Given the description of an element on the screen output the (x, y) to click on. 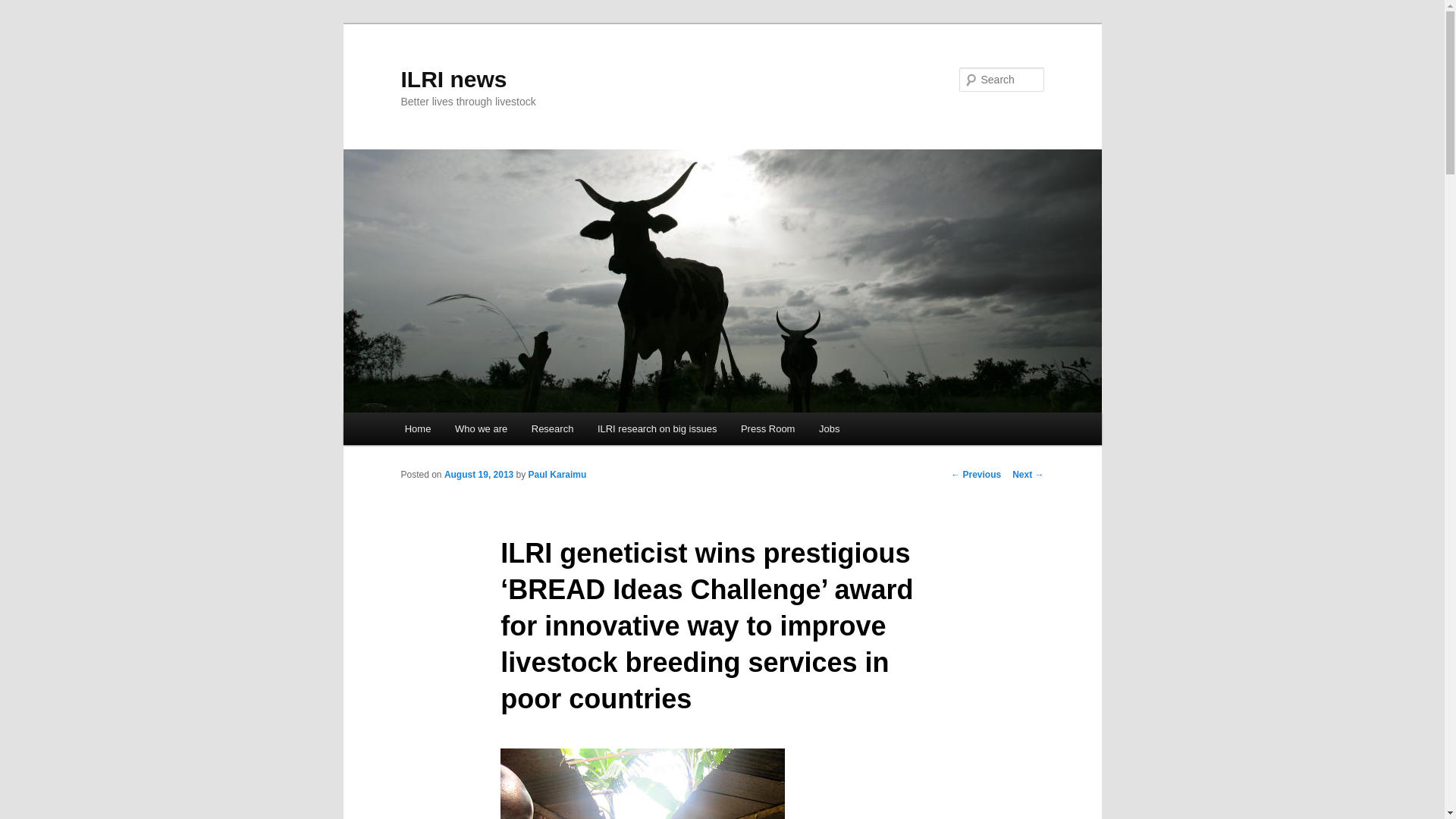
Who we are (480, 428)
Research (552, 428)
Who we are (480, 428)
Paul Karaimu (557, 474)
View all posts by Paul Karaimu (557, 474)
August 19, 2013 (478, 474)
Press Room (767, 428)
Home (417, 428)
2:37 pm (478, 474)
ILRI news (453, 78)
ILRI research on big issues (657, 428)
Jobs (828, 428)
Search (24, 8)
